Given the description of an element on the screen output the (x, y) to click on. 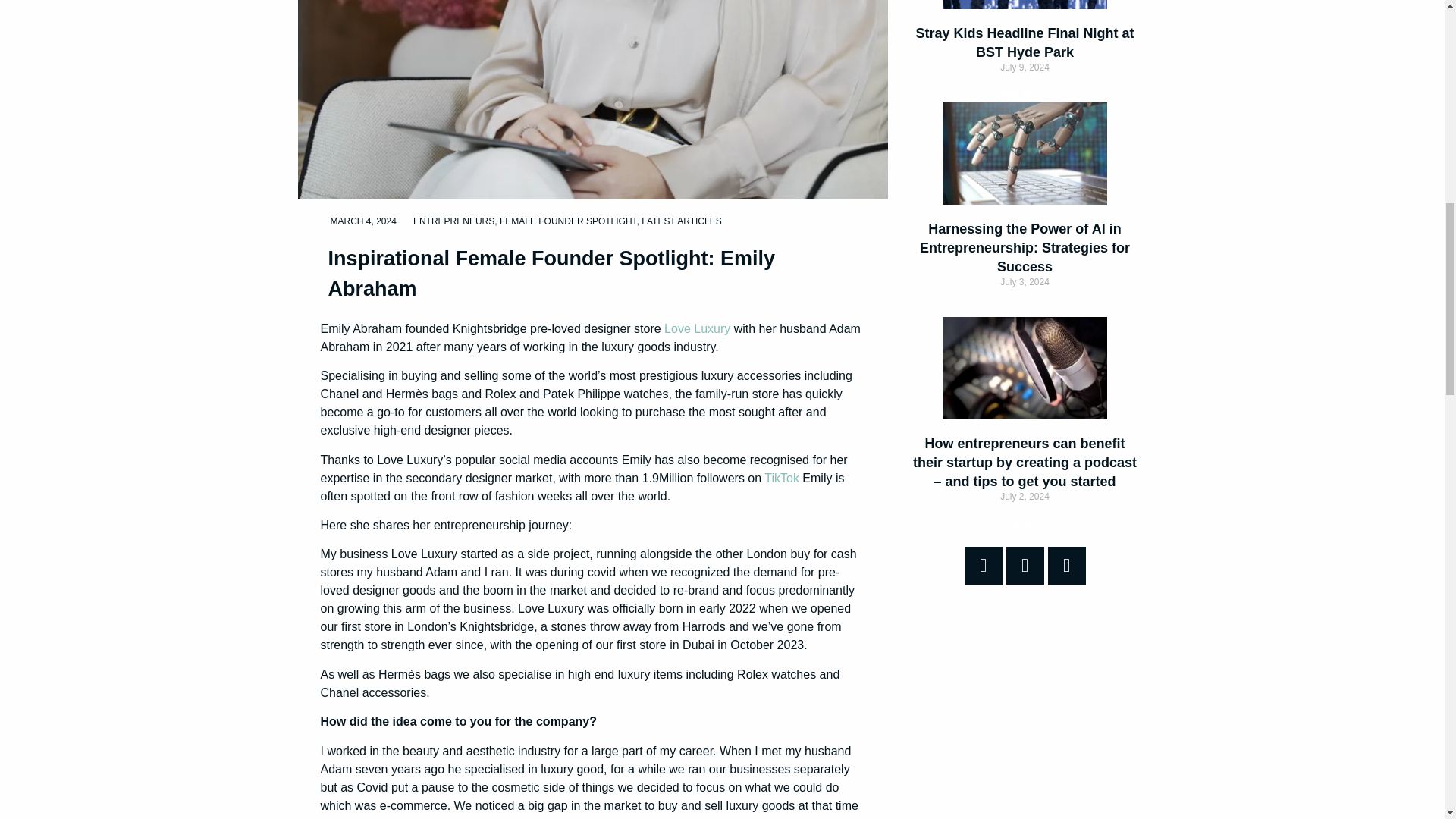
Love Luxury (696, 328)
LATEST ARTICLES (681, 221)
ENTREPRENEURS (454, 221)
TikTok (781, 477)
FEMALE FOUNDER SPOTLIGHT (568, 221)
